Given the description of an element on the screen output the (x, y) to click on. 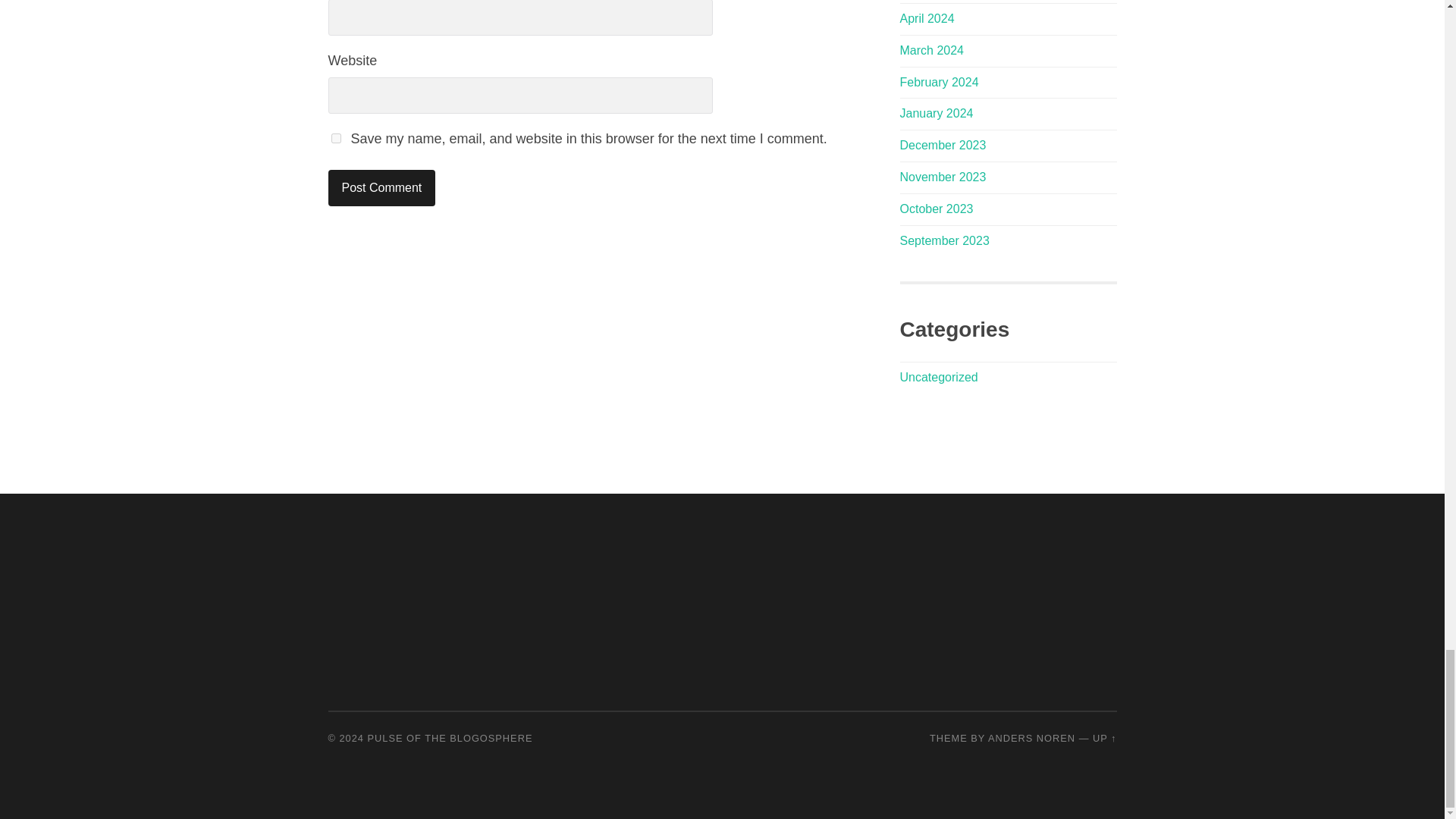
To the top (1104, 737)
yes (335, 138)
Post Comment (381, 187)
Post Comment (381, 187)
